Given the description of an element on the screen output the (x, y) to click on. 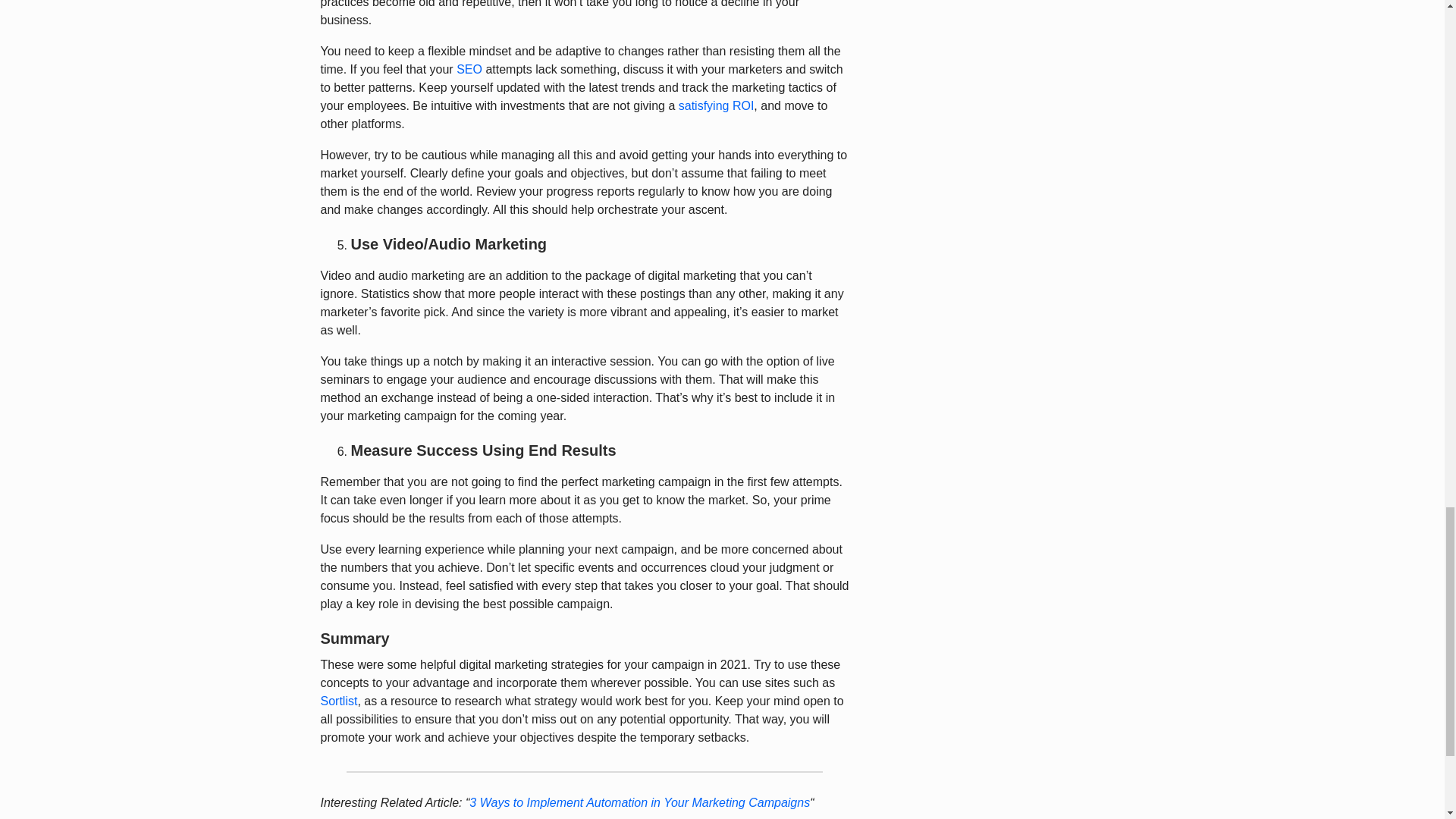
SEO (469, 69)
3 Ways to Implement Automation in Your Marketing Campaigns (638, 802)
satisfying ROI (716, 105)
Sortlist (338, 700)
